Given the description of an element on the screen output the (x, y) to click on. 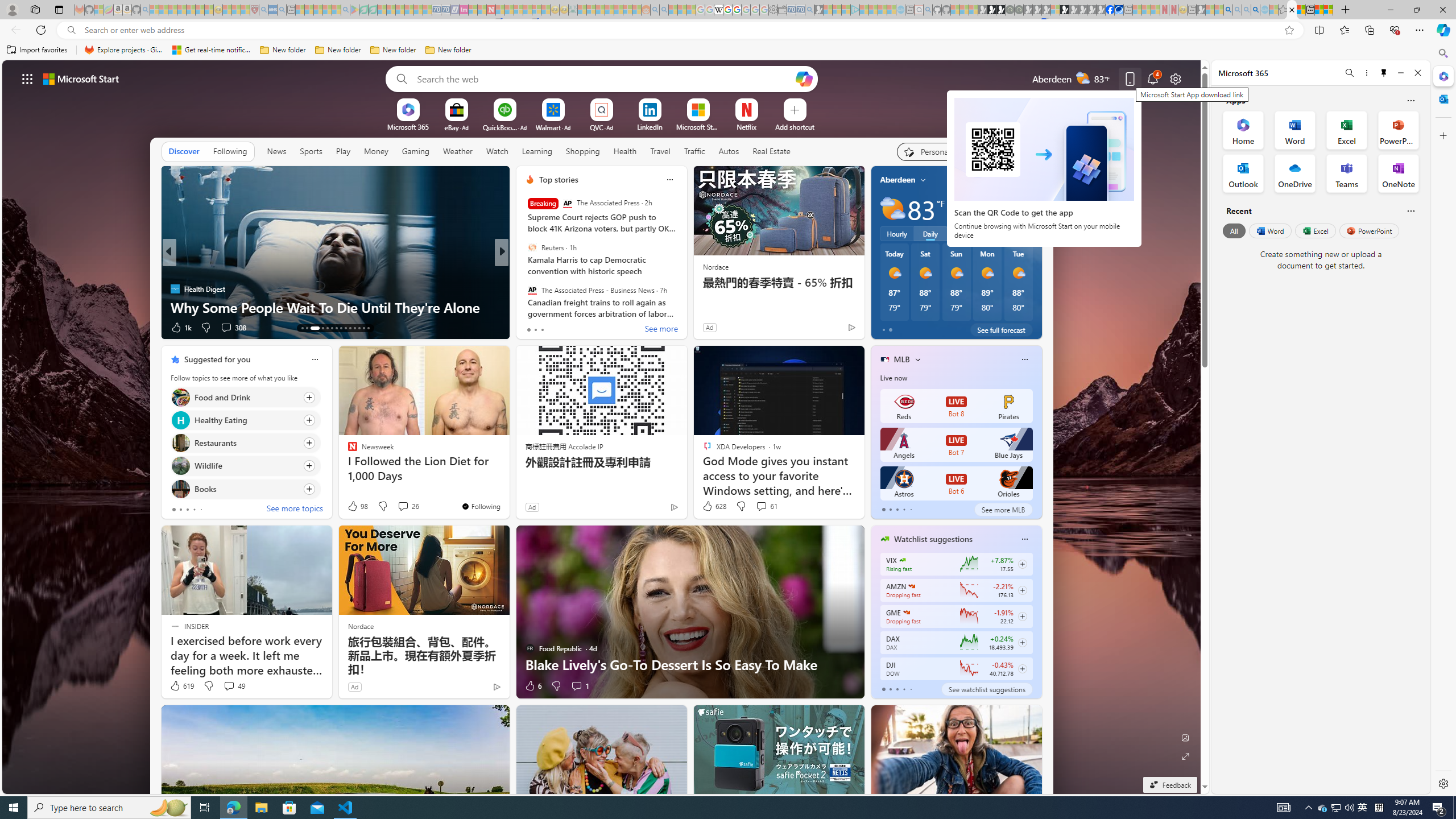
6 Like (532, 685)
View comments 31 Comment (585, 327)
Class: follow-button  m (1021, 668)
Partly sunny (892, 208)
Is this helpful? (1410, 210)
The Associated Press (567, 203)
utah sues federal government - Search - Sleeping (281, 9)
Easy pasta dinner trick is so yummy (684, 307)
CNBC (524, 270)
